Given the description of an element on the screen output the (x, y) to click on. 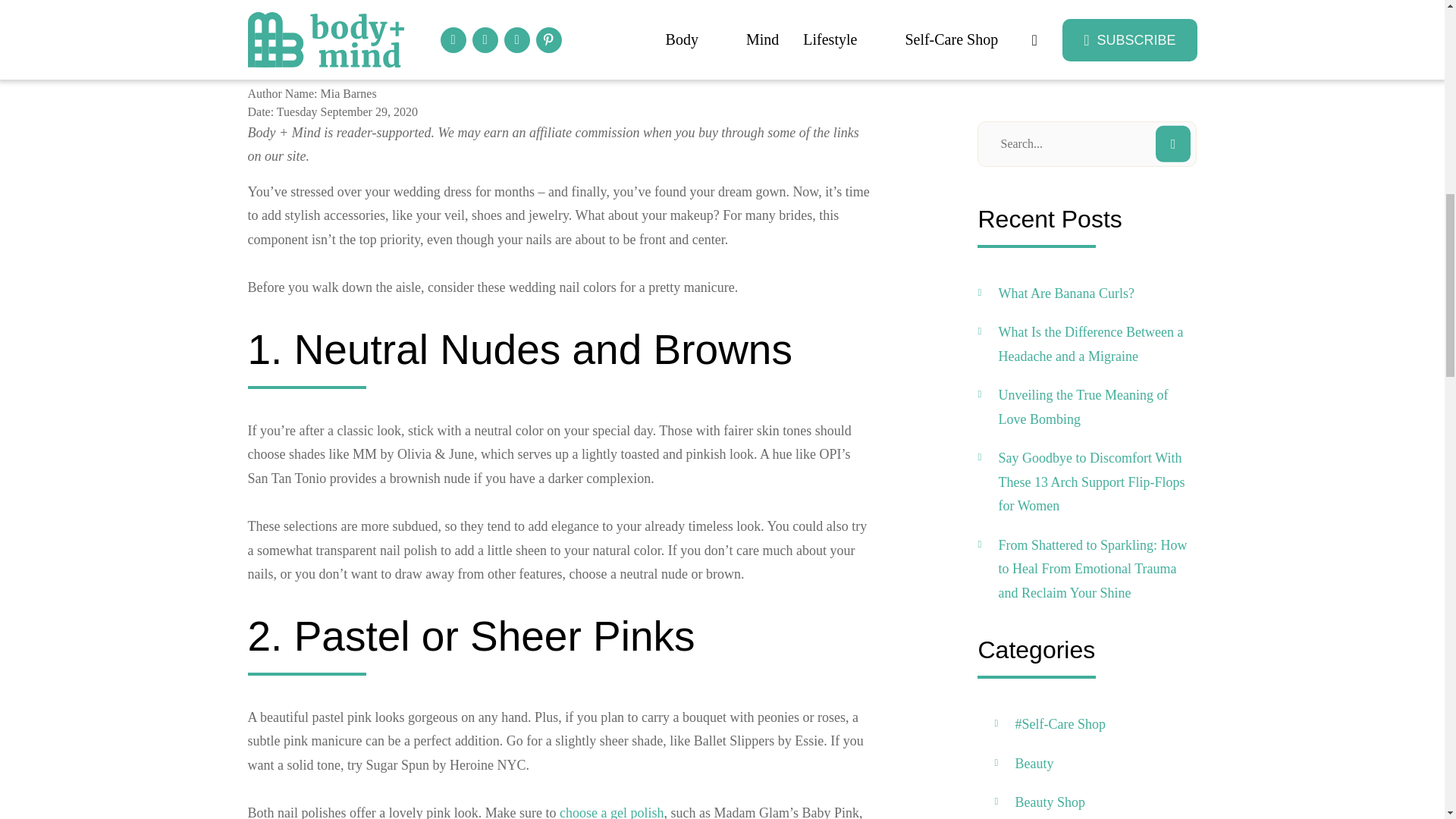
choose a gel polish (611, 812)
